Given the description of an element on the screen output the (x, y) to click on. 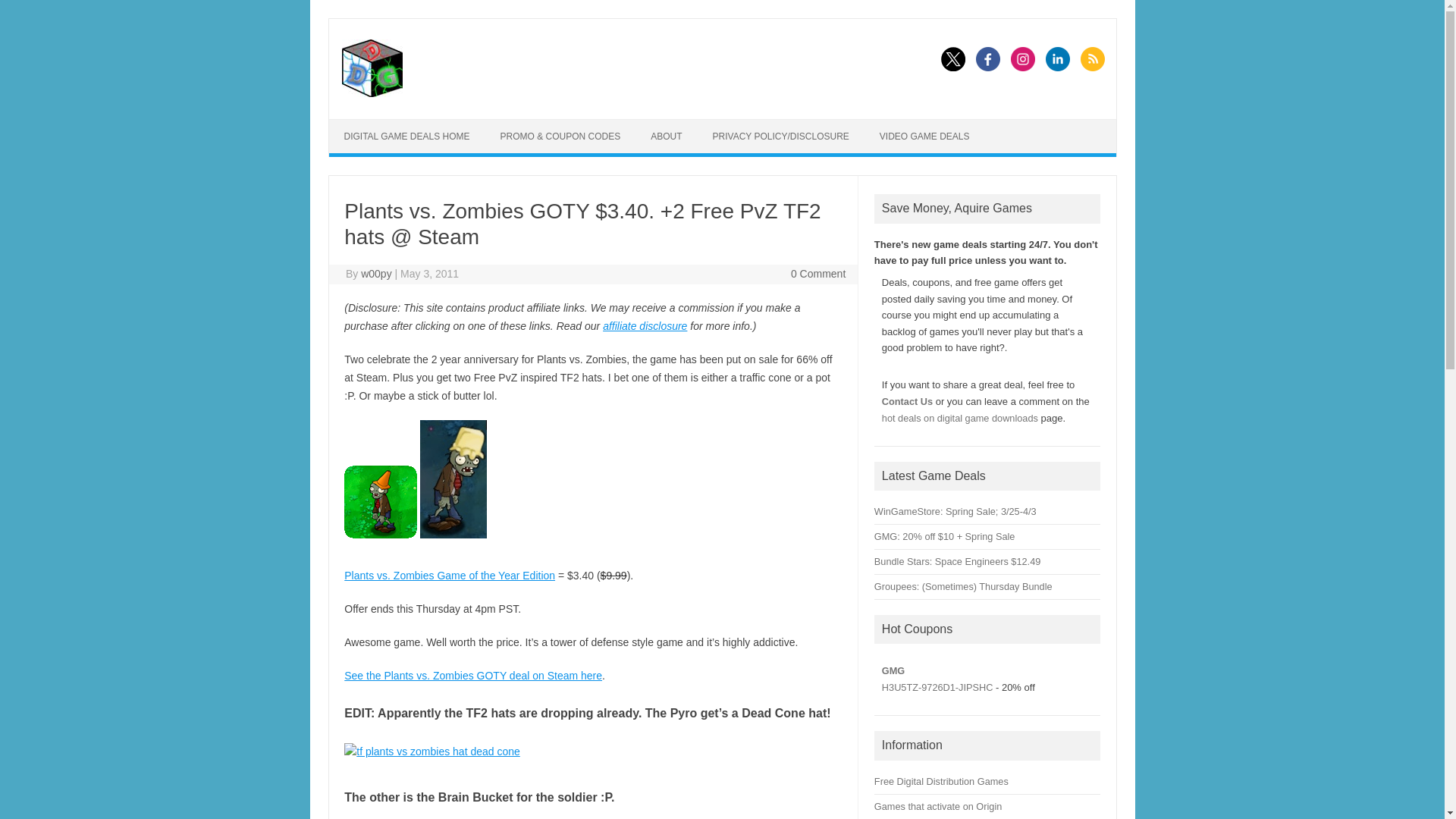
hot deals on digital game downloads (960, 418)
Games on Steam, D2D, Impulse, Desura, GamersGate, more (942, 781)
VIDEO GAME DEALS (924, 136)
conehead zombie (379, 502)
w00py (376, 273)
affiliate disclosure (644, 326)
Digital Game Deals (370, 92)
affiliate disclosure (644, 326)
tf plants vs zombies hat dead cone (431, 751)
Games that activate on Origin (938, 806)
ABOUT (665, 136)
H3U5TZ-9726D1-JIPSHC (937, 686)
DIGITAL GAME DEALS HOME (406, 136)
